Given the description of an element on the screen output the (x, y) to click on. 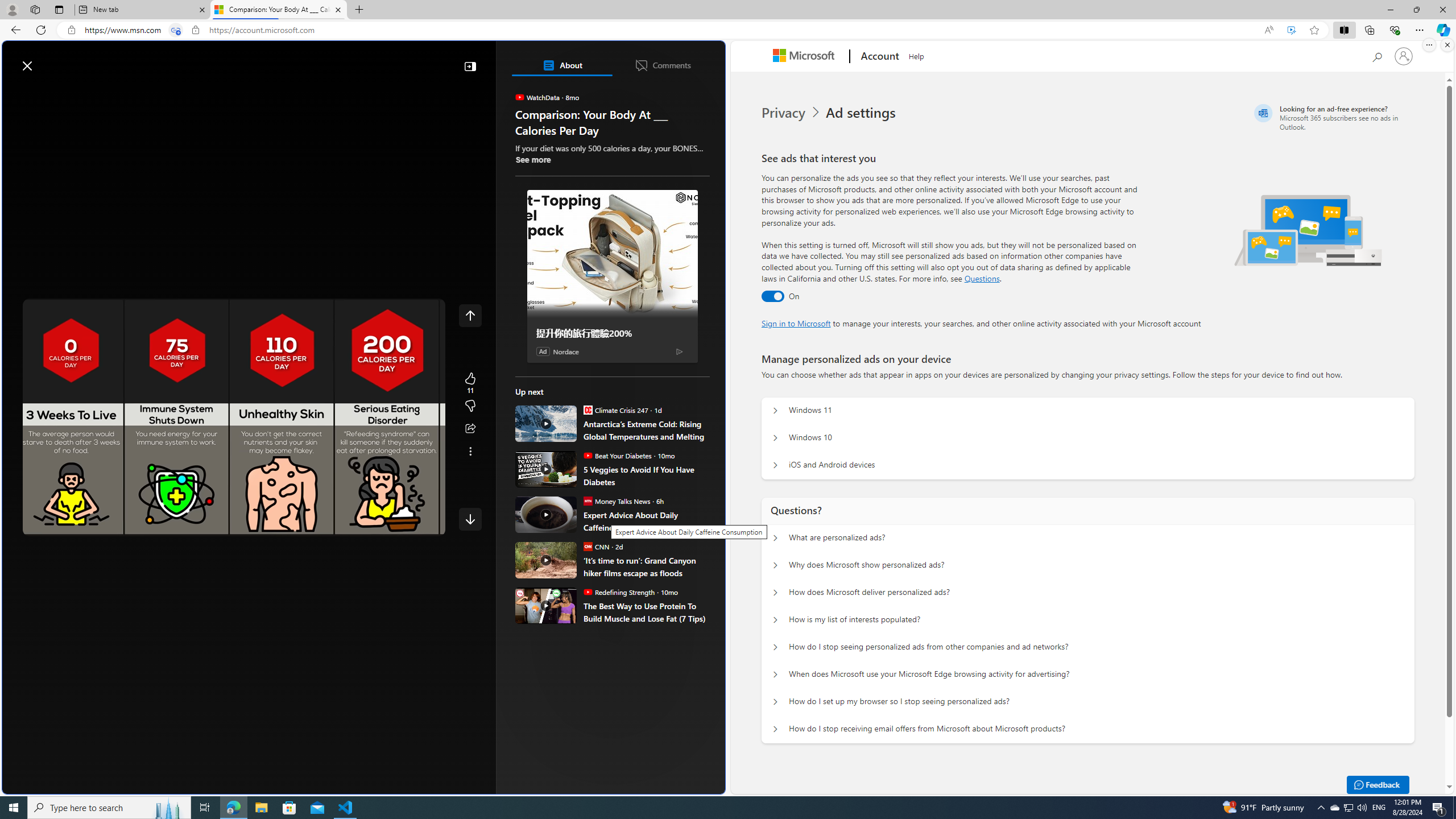
Watch (145, 92)
Looking for an ad-free experience? (1331, 117)
See more (469, 451)
Questions? What are personalized ads? (775, 537)
Manage personalized ads on your device Windows 11 (775, 410)
5 Veggies to Avoid If You Have Diabetes (646, 475)
5 Veggies to Avoid If You Have Diabetes (545, 468)
Illustration of multiple devices (1308, 229)
Copilot (Ctrl+Shift+.) (1442, 29)
